Given the description of an element on the screen output the (x, y) to click on. 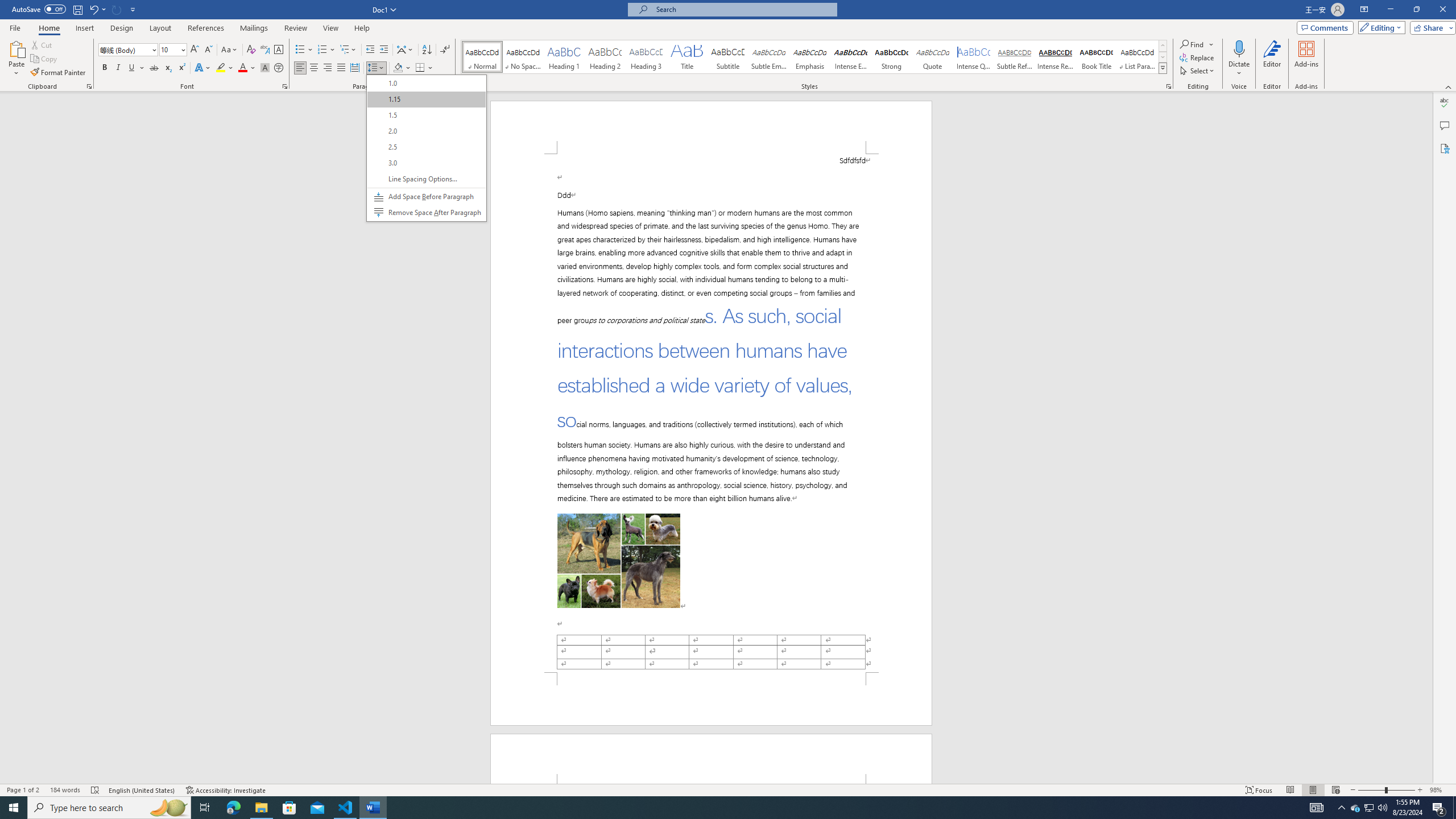
Strong (891, 56)
Format Painter (58, 72)
Q2790: 100% (1382, 807)
Quote (932, 56)
Replace... (1197, 56)
Heading 2 (605, 56)
Title (686, 56)
Class: MsoCommandBar (728, 789)
Bold (104, 67)
Font Color Red (241, 67)
